Given the description of an element on the screen output the (x, y) to click on. 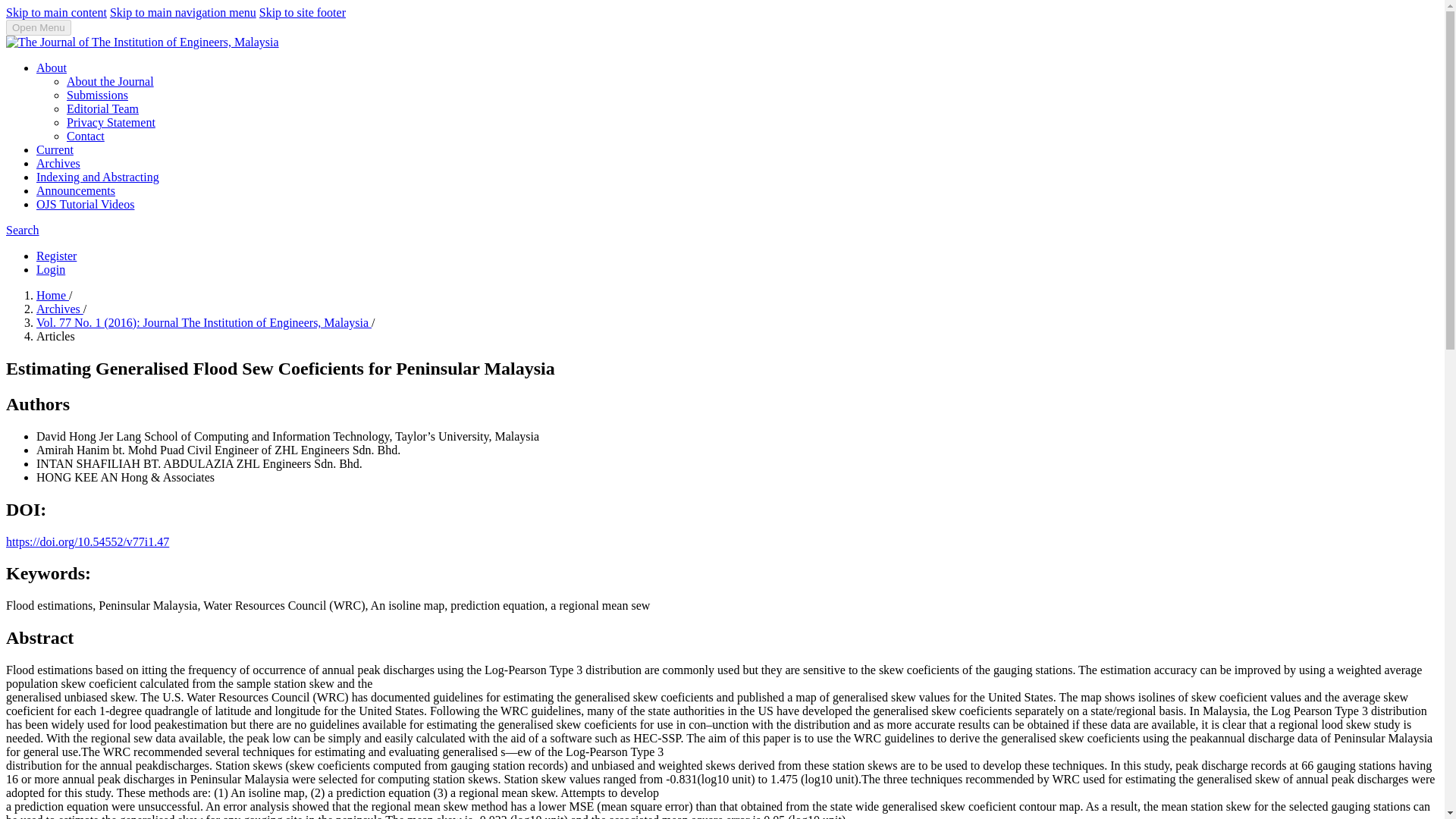
Skip to main navigation menu (183, 11)
Current (55, 149)
Privacy Statement (110, 122)
Skip to main content (55, 11)
Announcements (75, 190)
Register (56, 255)
Indexing and Abstracting (97, 176)
OJS Tutorial Videos (84, 204)
Skip to site footer (302, 11)
Archives (58, 163)
Contact (85, 135)
Login (50, 269)
Submissions (97, 94)
About (51, 67)
Archives (59, 308)
